Given the description of an element on the screen output the (x, y) to click on. 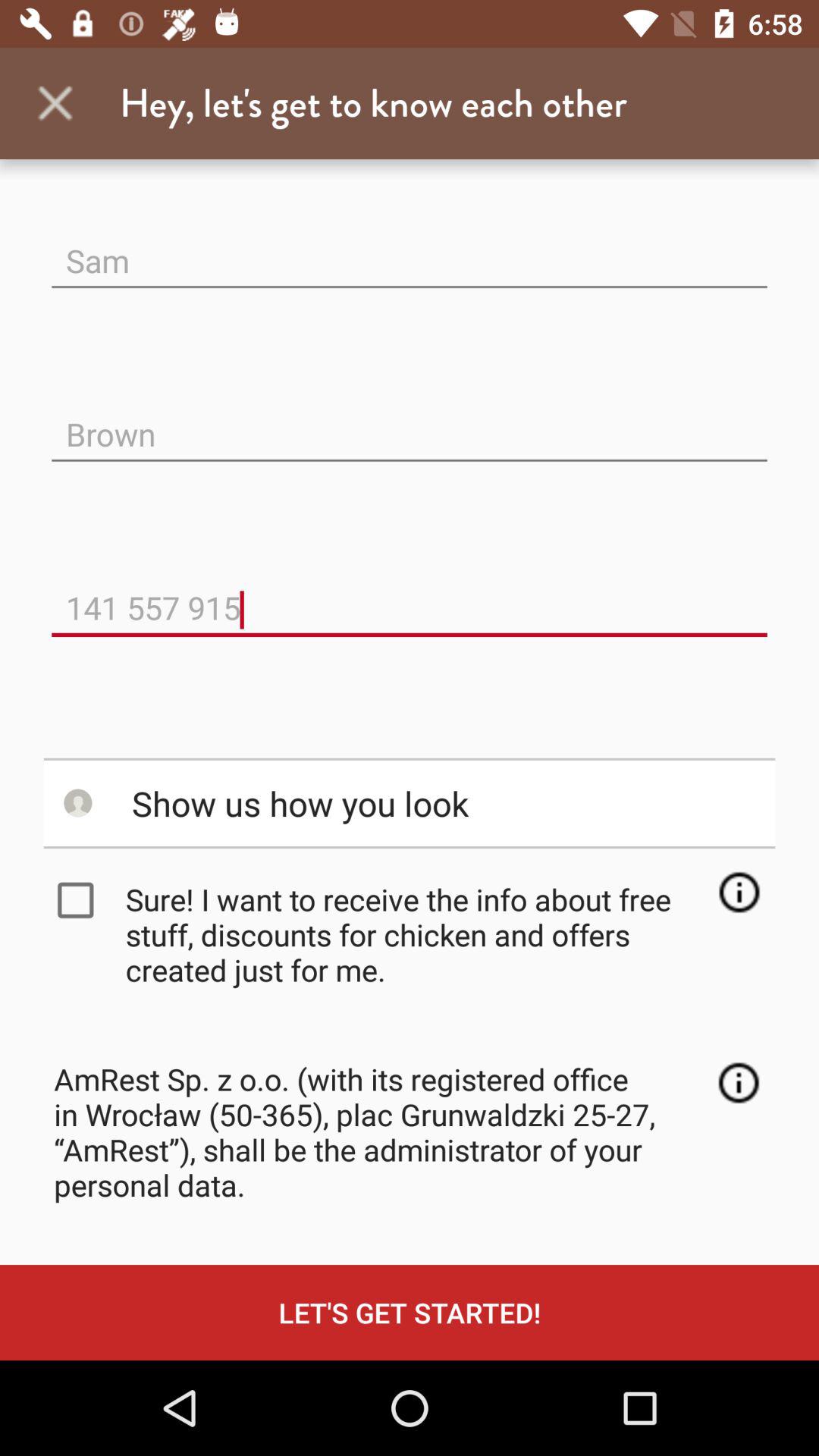
choose icon next to amrest sp z (738, 1082)
